Given the description of an element on the screen output the (x, y) to click on. 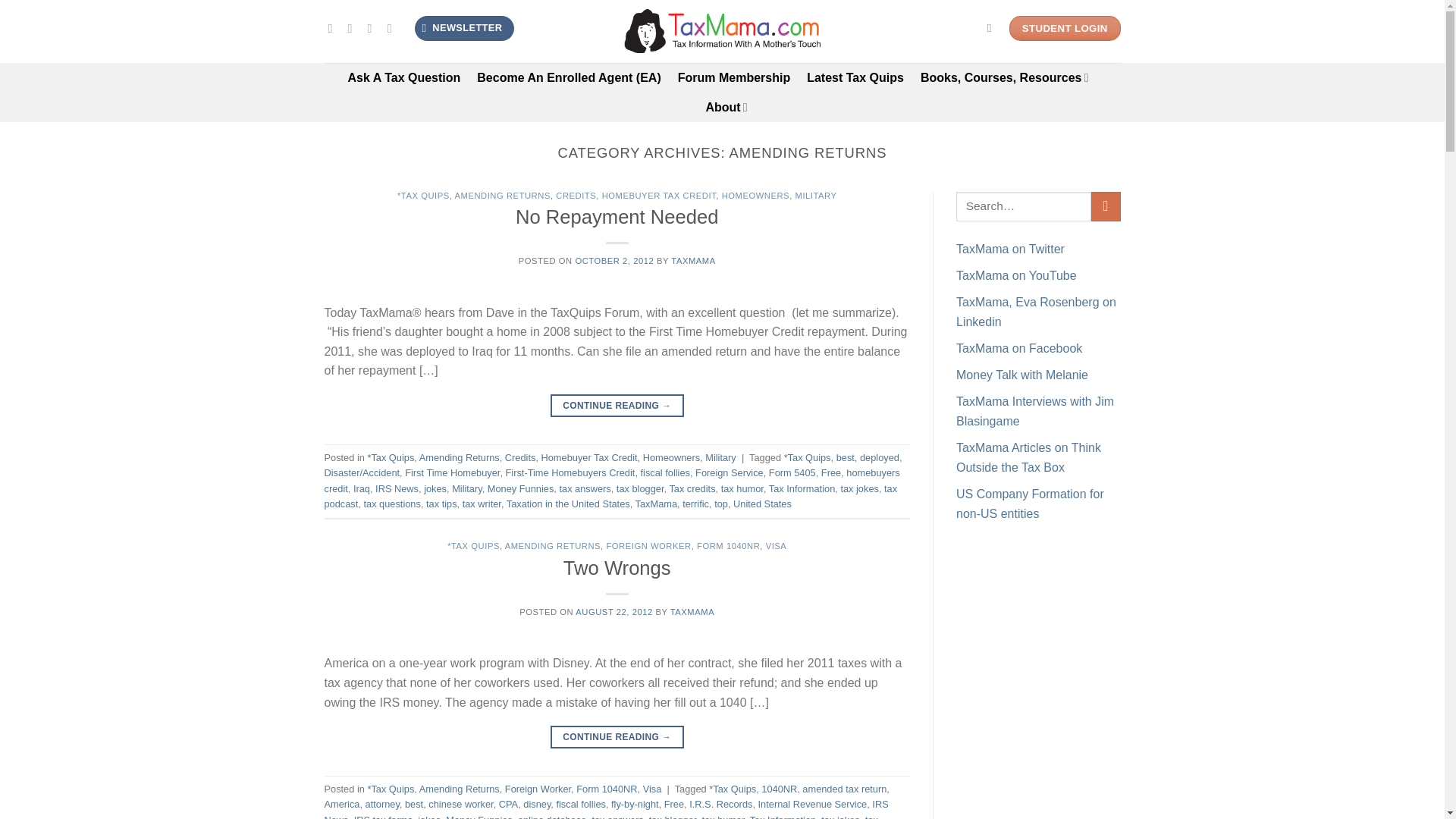
Follow on YouTube (392, 28)
Follow on Facebook (333, 28)
Credits (520, 457)
Ask A Tax Question (404, 77)
CREDITS (575, 194)
Follow on Twitter (353, 28)
Homeowners (671, 457)
Forum Membership (734, 77)
HOMEOWNERS (756, 194)
HOMEBUYER TAX CREDIT (659, 194)
Sign up for Our Newsletter (463, 27)
No Repayment Needed (616, 216)
STUDENT LOGIN (1065, 28)
Homebuyer Tax Credit (589, 457)
TAXMAMA (692, 260)
